Given the description of an element on the screen output the (x, y) to click on. 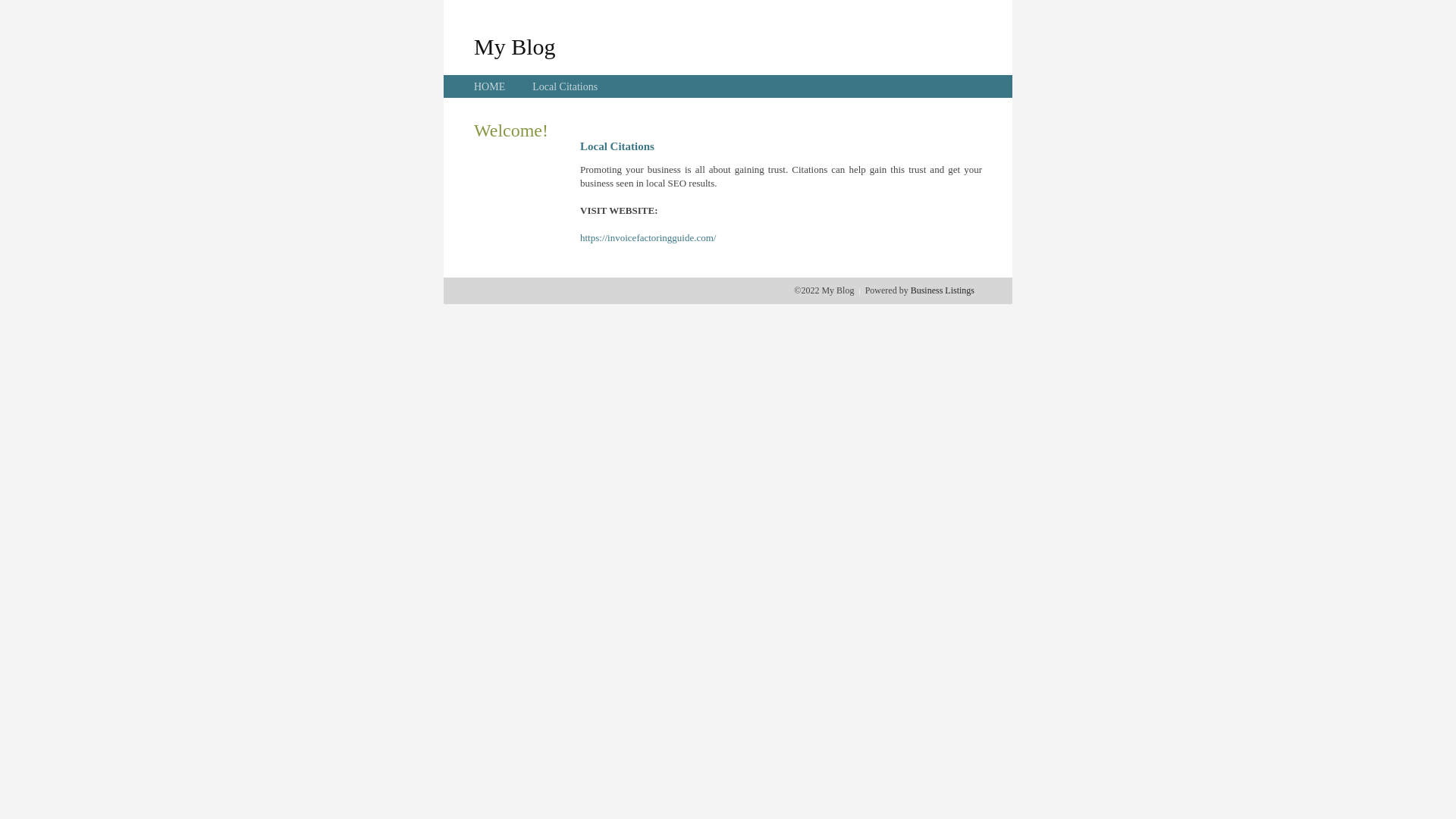
HOME Element type: text (489, 86)
My Blog Element type: text (514, 46)
Local Citations Element type: text (564, 86)
Business Listings Element type: text (942, 290)
https://invoicefactoringguide.com/ Element type: text (647, 237)
